Given the description of an element on the screen output the (x, y) to click on. 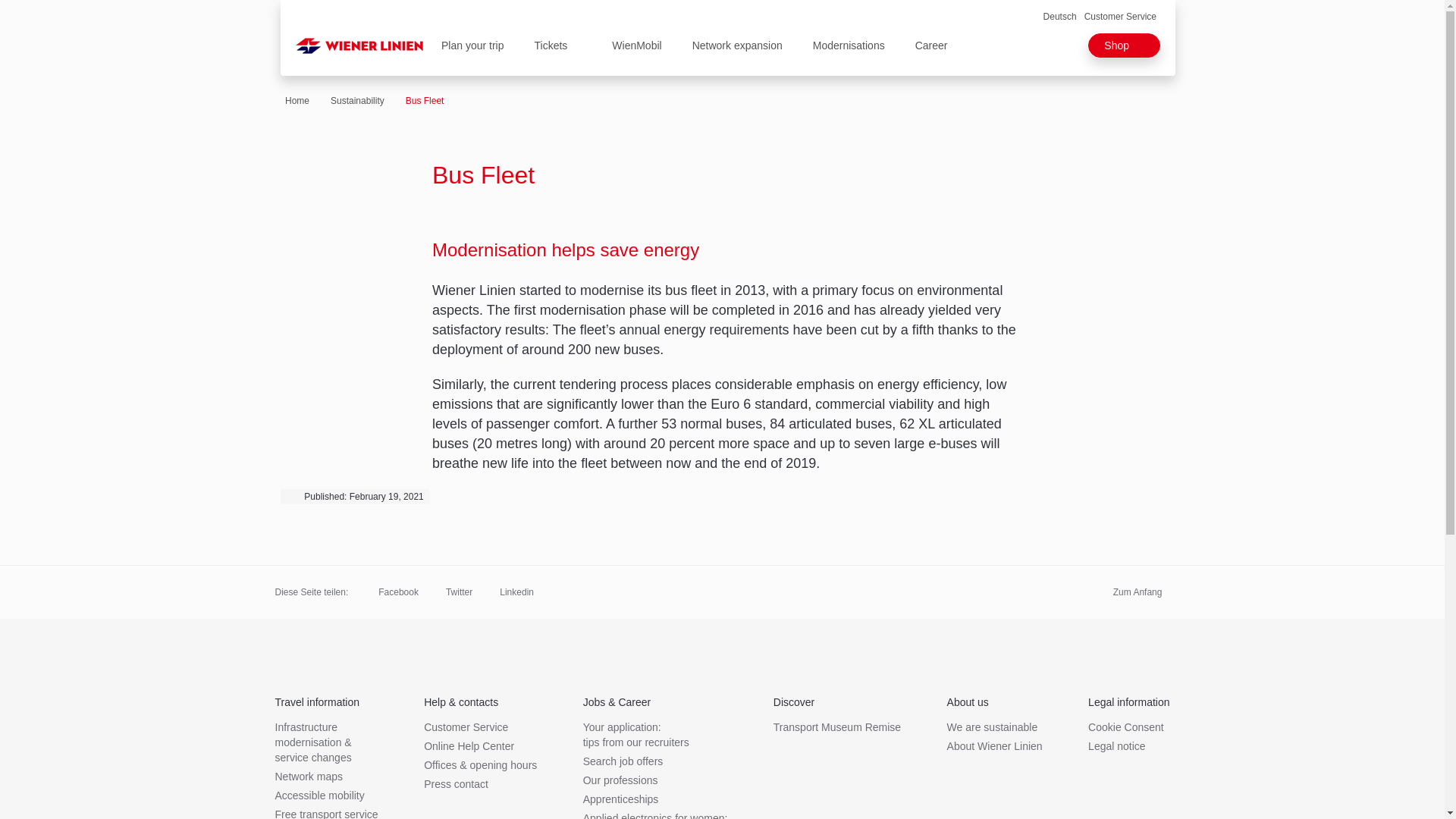
Tickets (550, 45)
Network expansion (737, 45)
WienMobil (628, 45)
Modernisations (848, 45)
Plan your trip (472, 45)
